Given the description of an element on the screen output the (x, y) to click on. 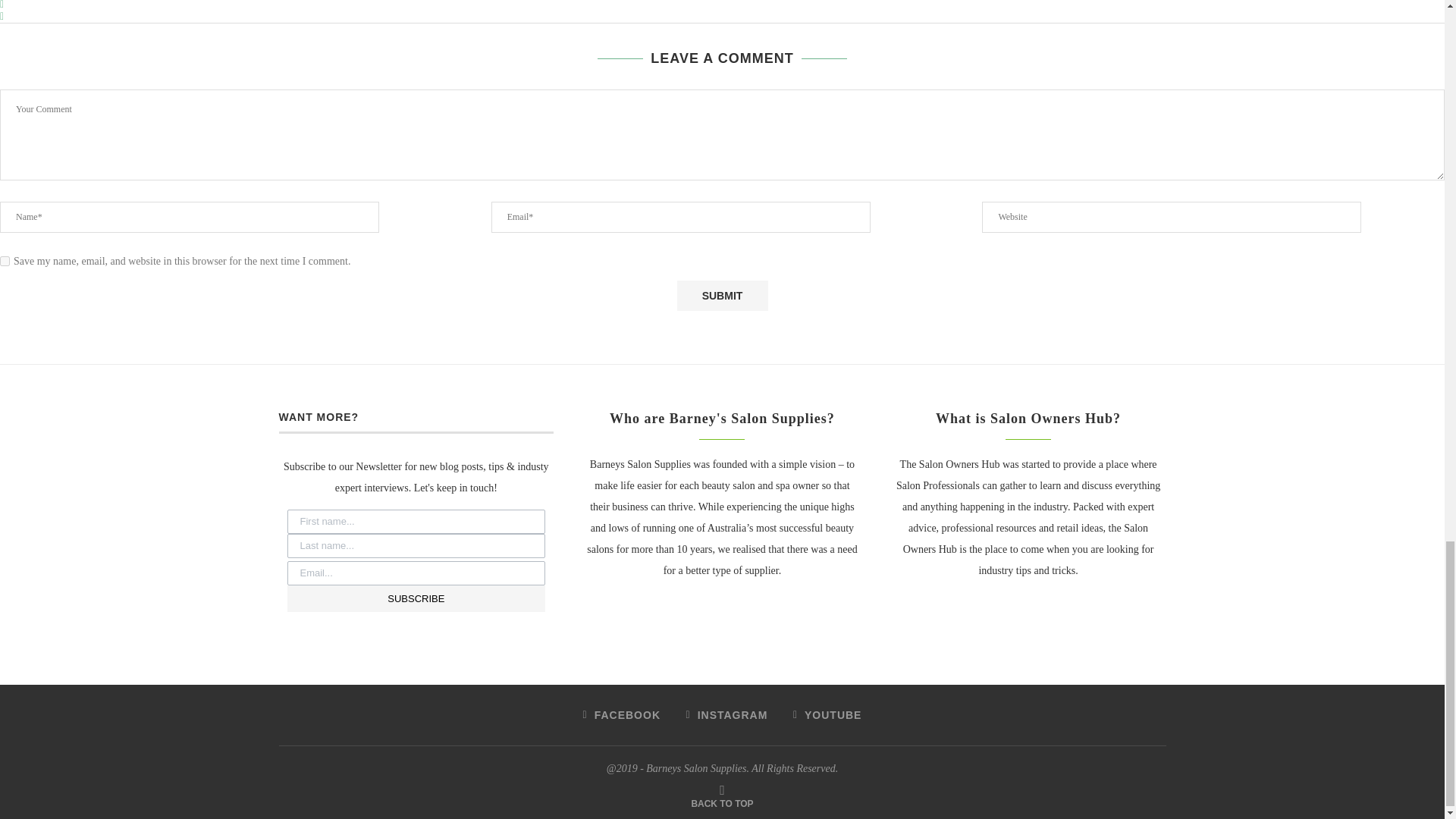
Submit (722, 295)
yes (5, 261)
